Given the description of an element on the screen output the (x, y) to click on. 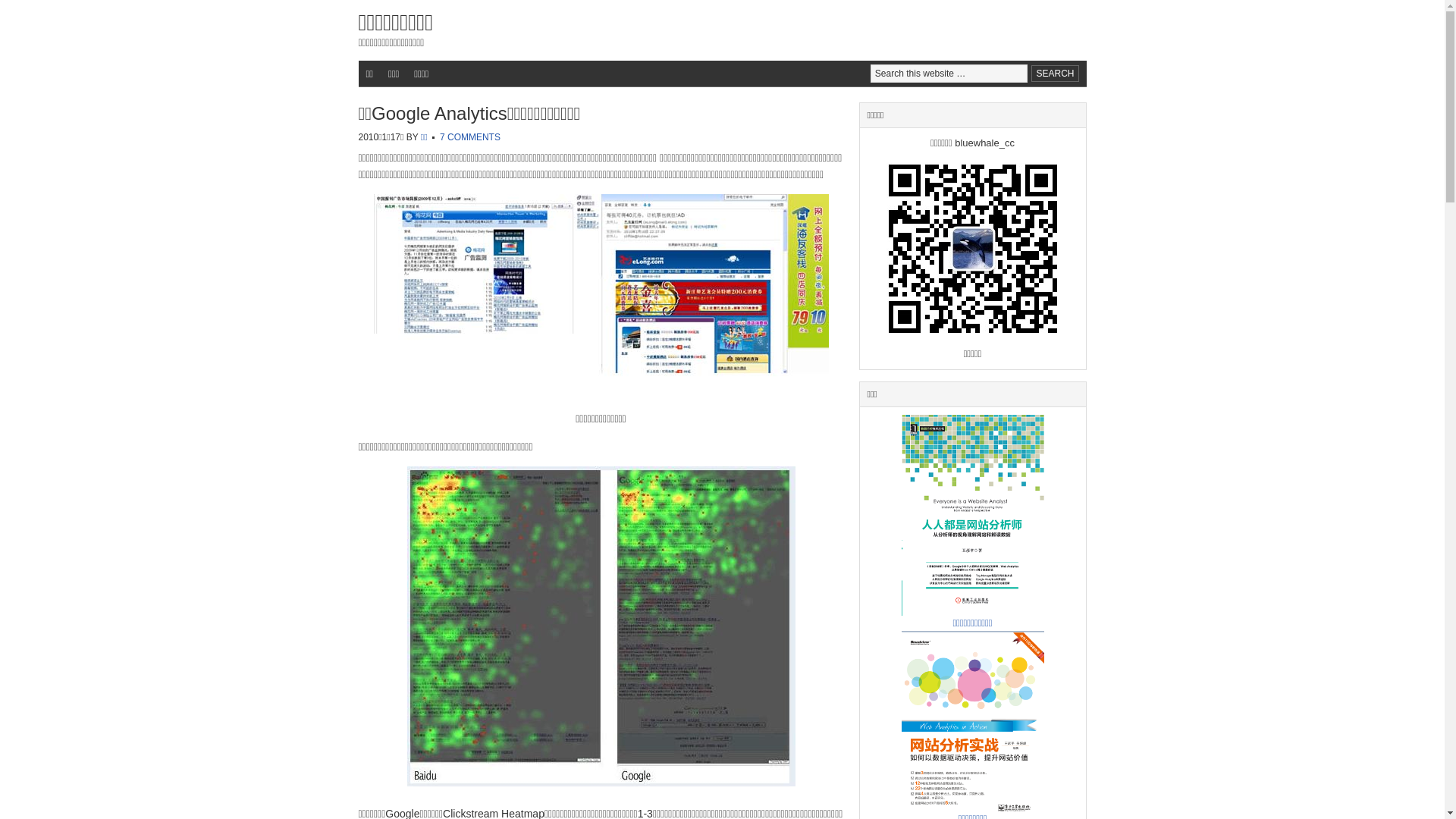
7 COMMENTS Element type: text (469, 136)
emailface Element type: hover (600, 292)
Search Element type: text (1054, 73)
webretu Element type: hover (600, 626)
